Given the description of an element on the screen output the (x, y) to click on. 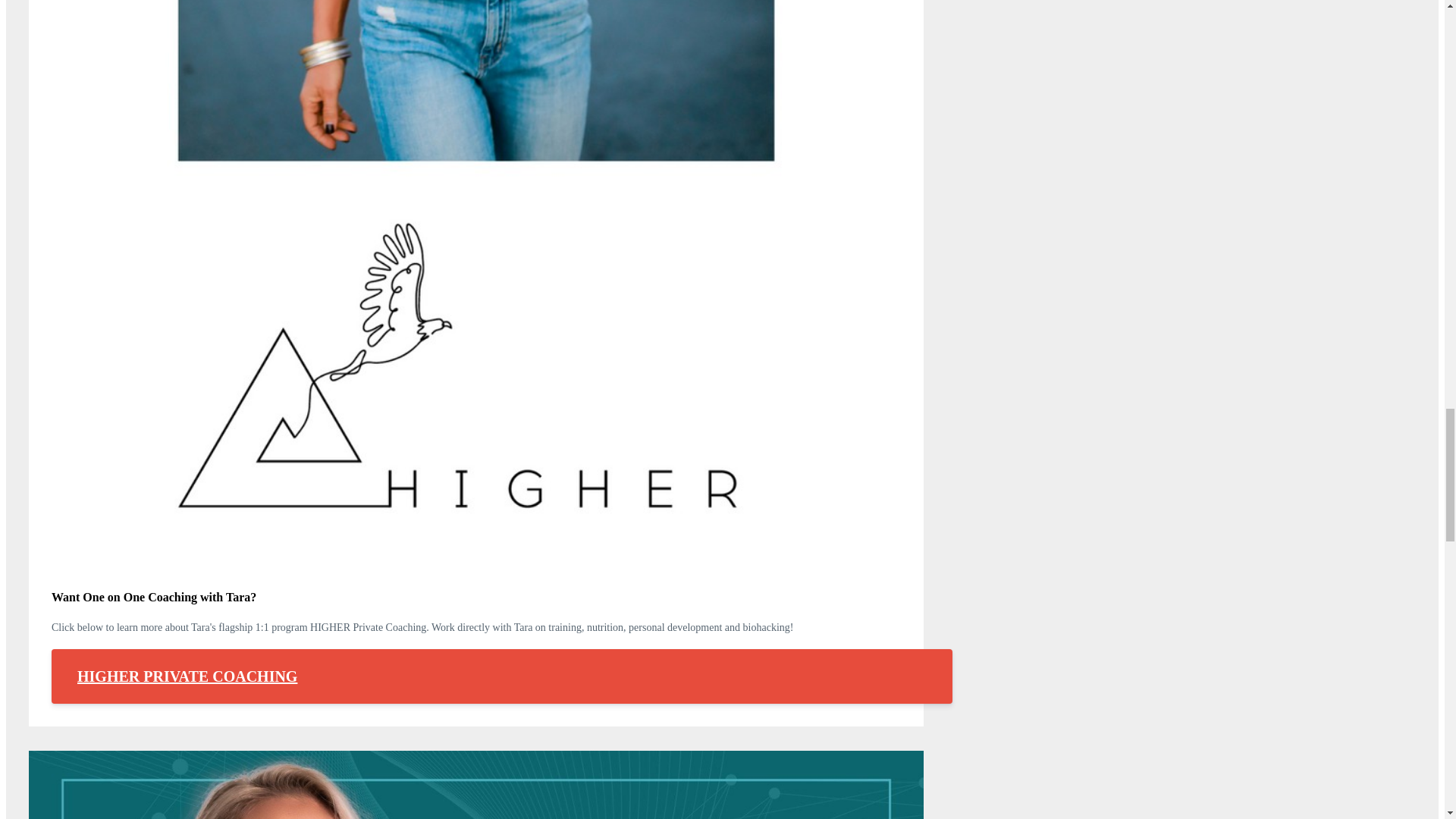
HIGHER PRIVATE COACHING (501, 676)
